Given the description of an element on the screen output the (x, y) to click on. 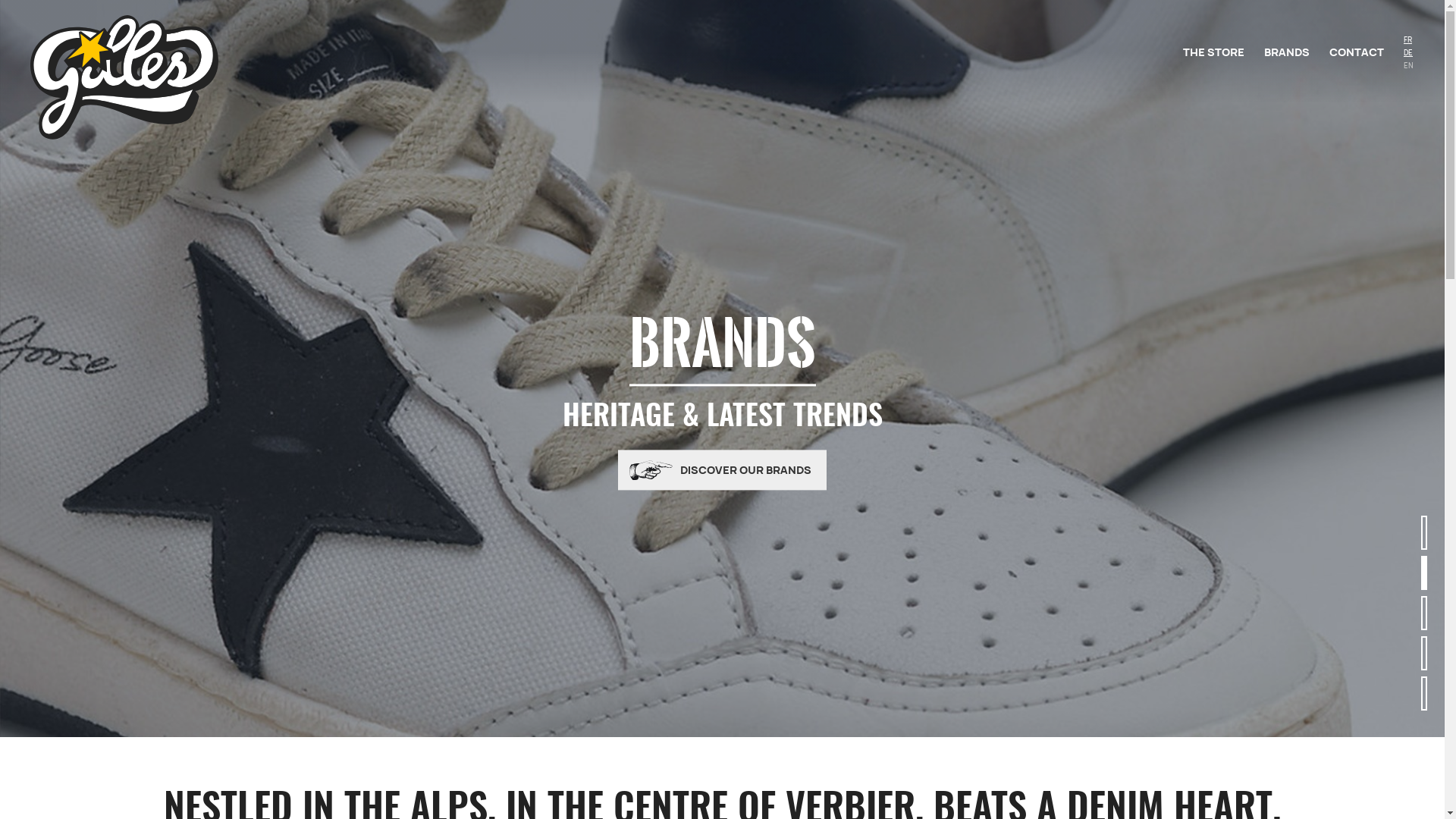
DE Element type: text (1403, 51)
THE STORE Element type: text (1213, 51)
DISCOVER OUR BRANDS Element type: text (722, 469)
BRANDS Element type: text (1286, 51)
EN Element type: text (1403, 65)
CONTACT Element type: text (1356, 51)
FR Element type: text (1403, 39)
